Given the description of an element on the screen output the (x, y) to click on. 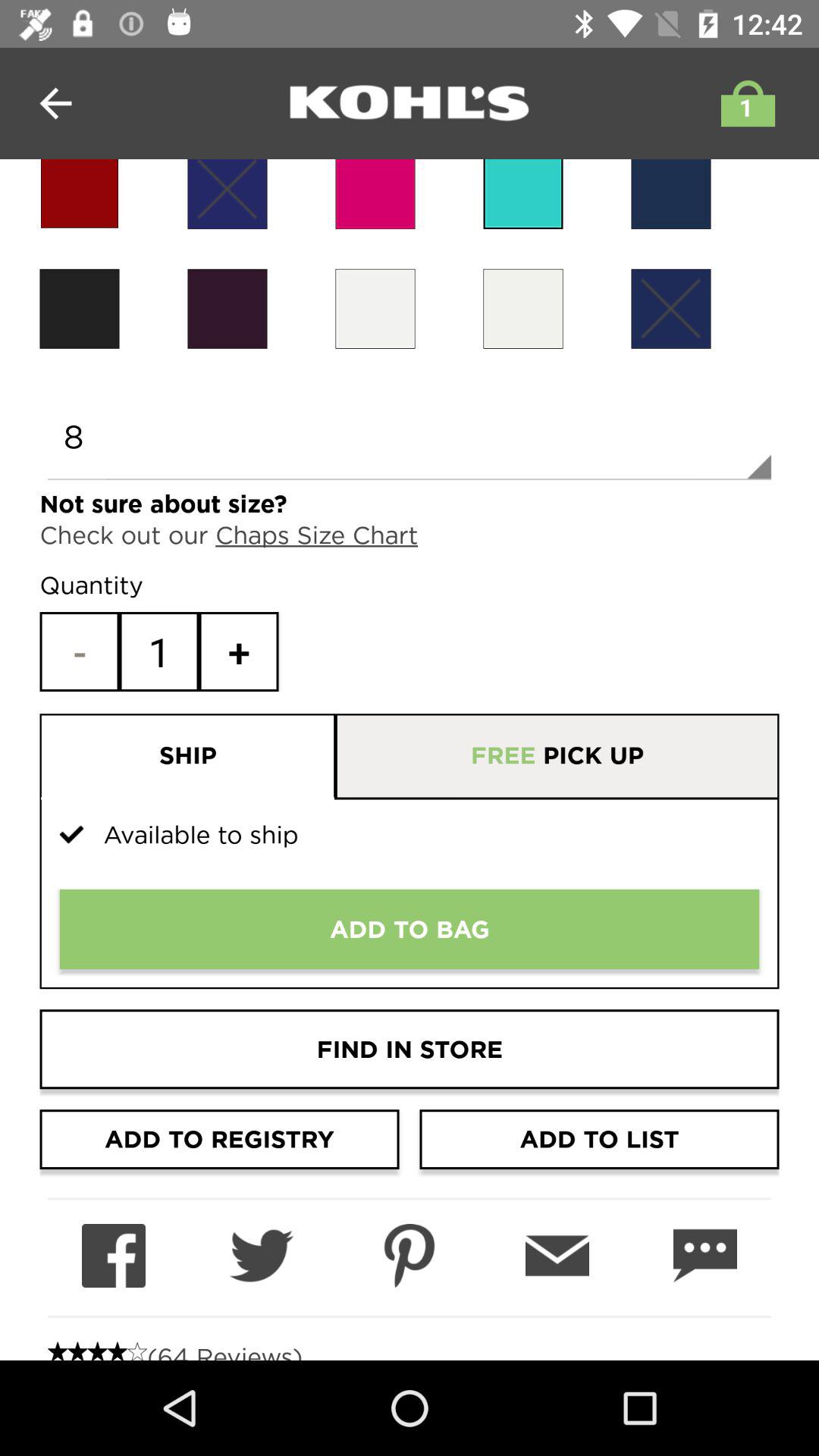
enter the column of select products (227, 194)
